Given the description of an element on the screen output the (x, y) to click on. 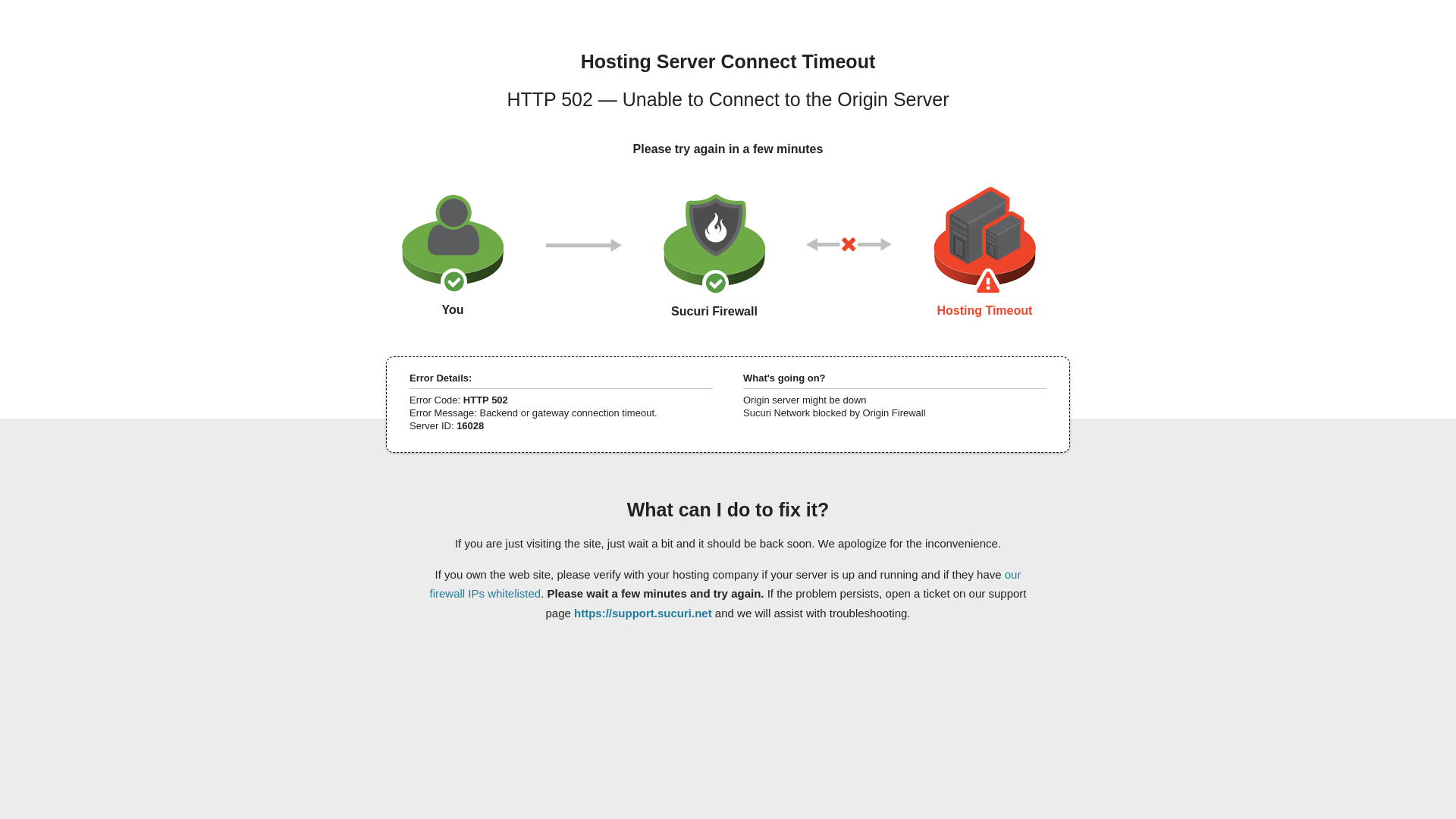
our firewall IPs whitelisted (724, 583)
